Given the description of an element on the screen output the (x, y) to click on. 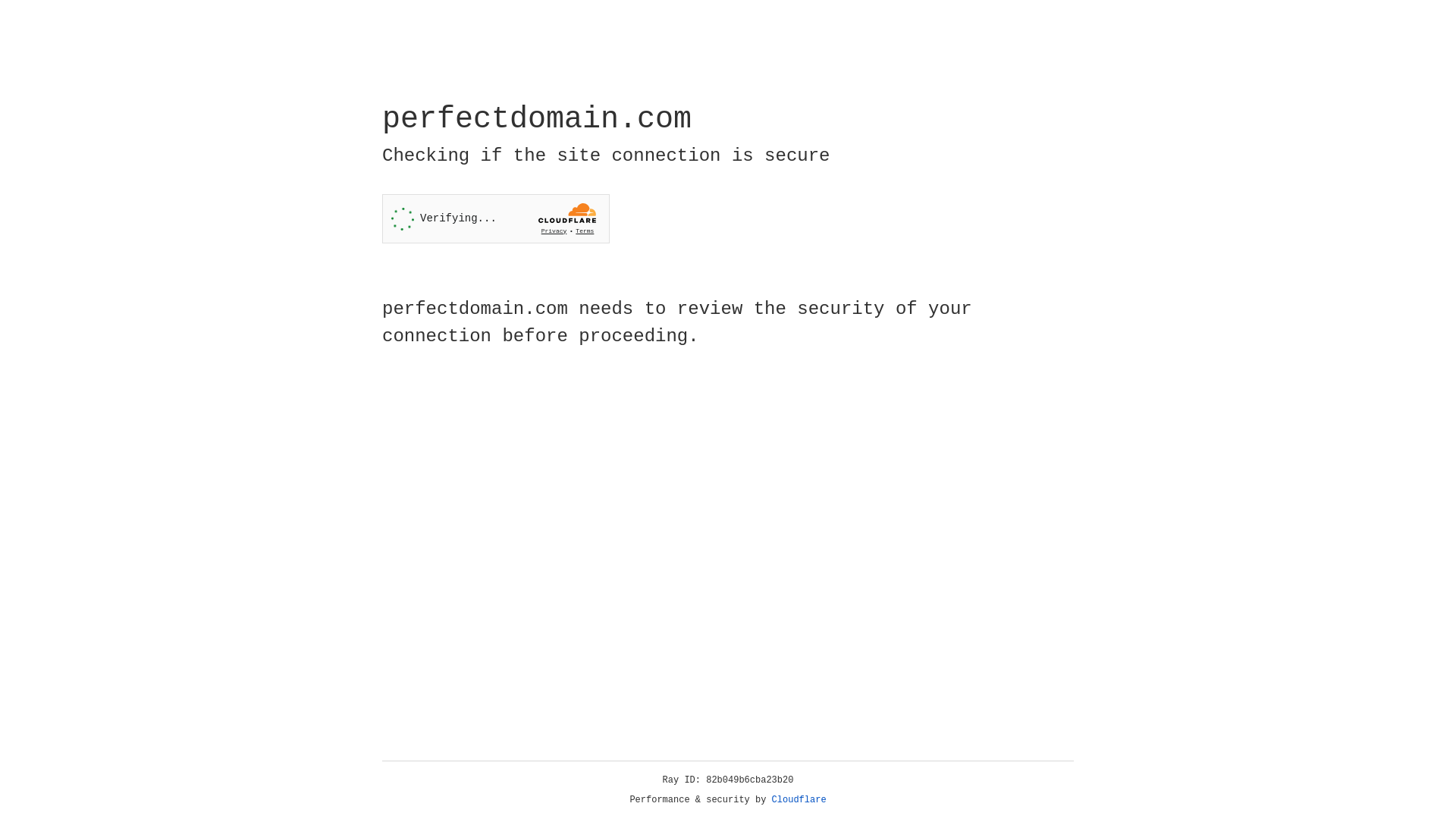
Cloudflare Element type: text (798, 799)
Widget containing a Cloudflare security challenge Element type: hover (495, 218)
